Given the description of an element on the screen output the (x, y) to click on. 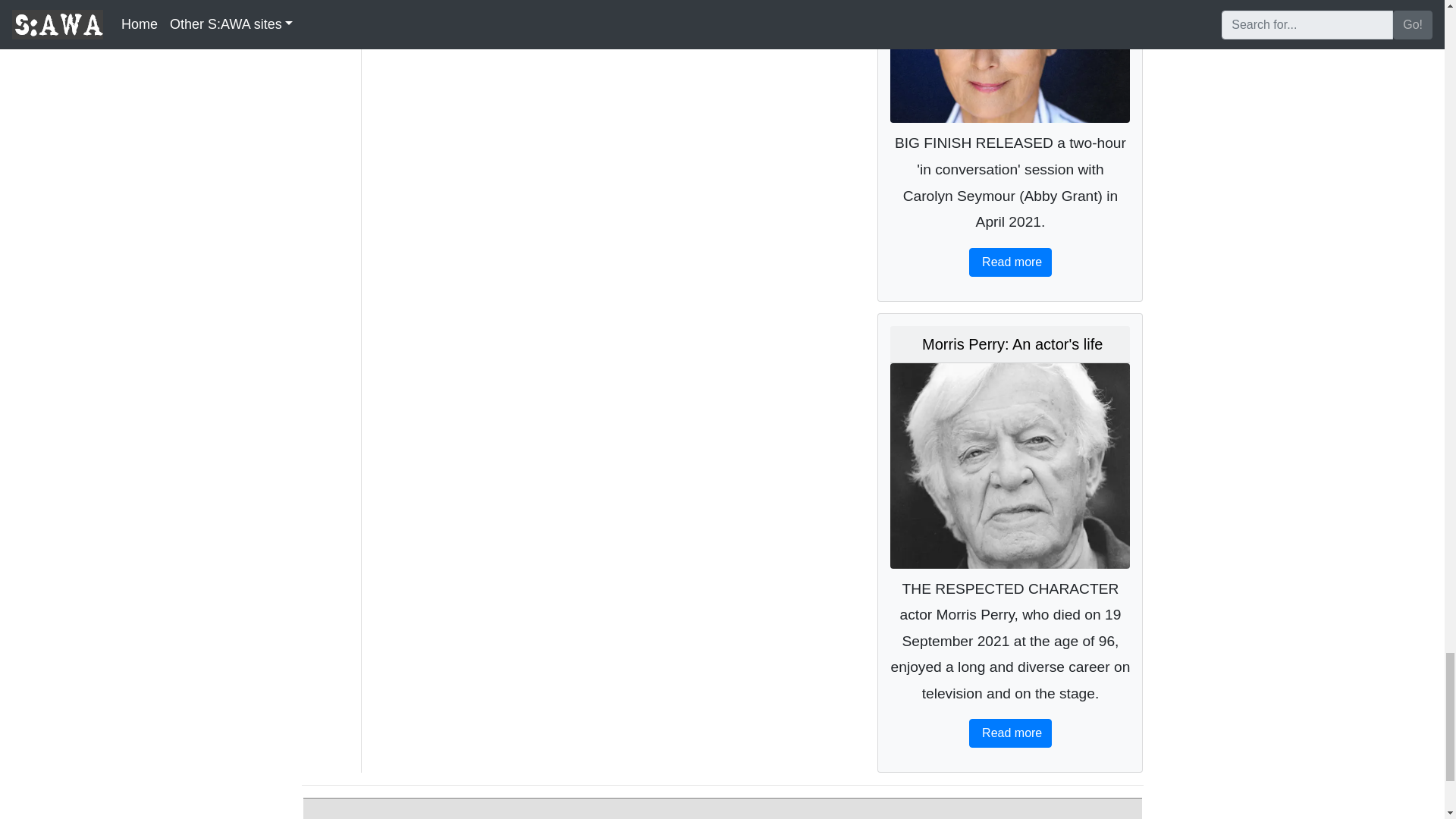
 Read more (1010, 262)
 Read more (1010, 733)
